Given the description of an element on the screen output the (x, y) to click on. 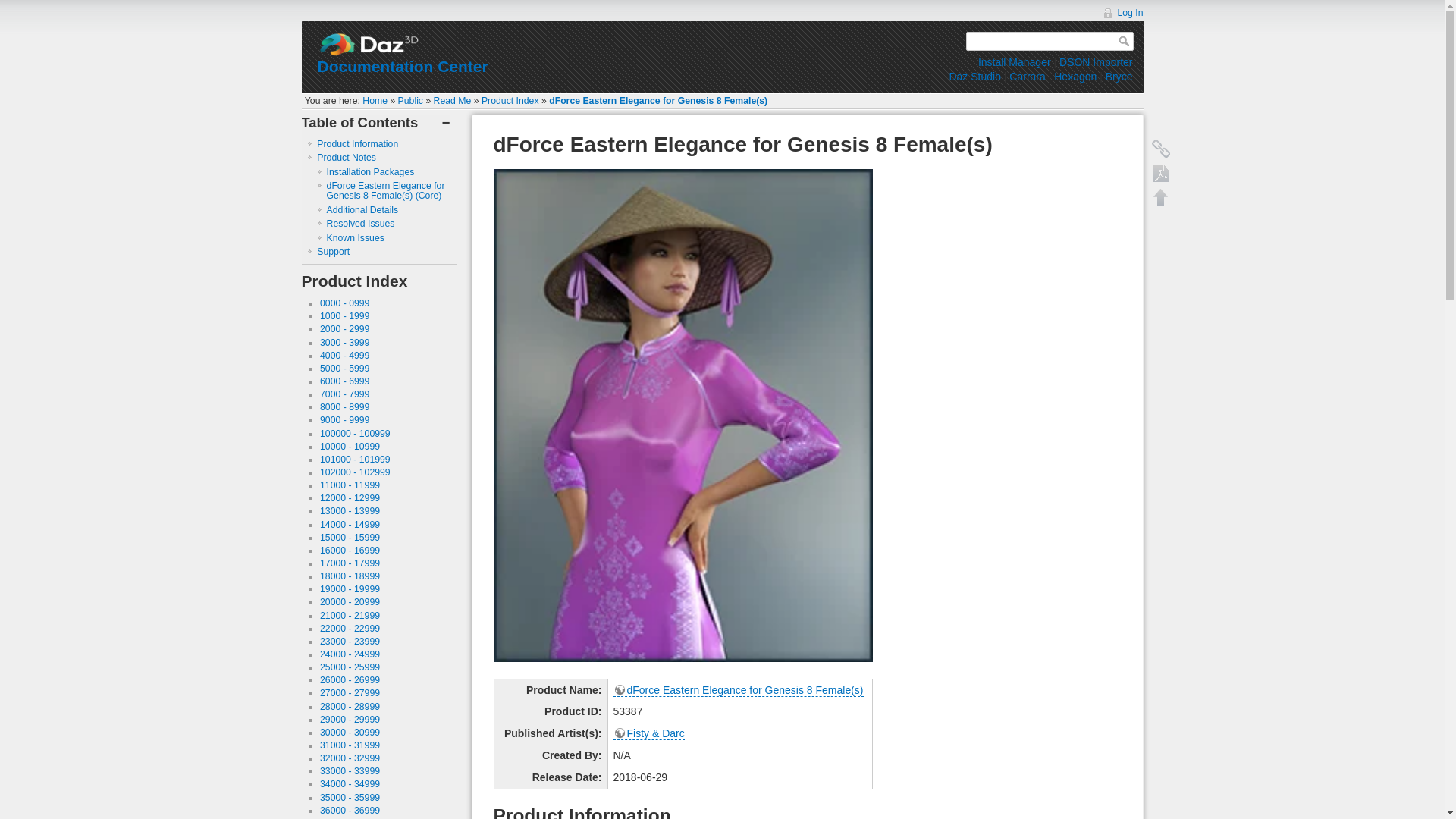
Resolved Issues (360, 223)
DSON Importer (1095, 61)
public:software:carrara:start (1027, 76)
3000 - 3999 (344, 342)
start (374, 100)
10000 - 10999 (350, 446)
Hexagon (1075, 76)
Carrara (1027, 76)
public:software:dazstudio:start (974, 76)
Search (1125, 40)
